Given the description of an element on the screen output the (x, y) to click on. 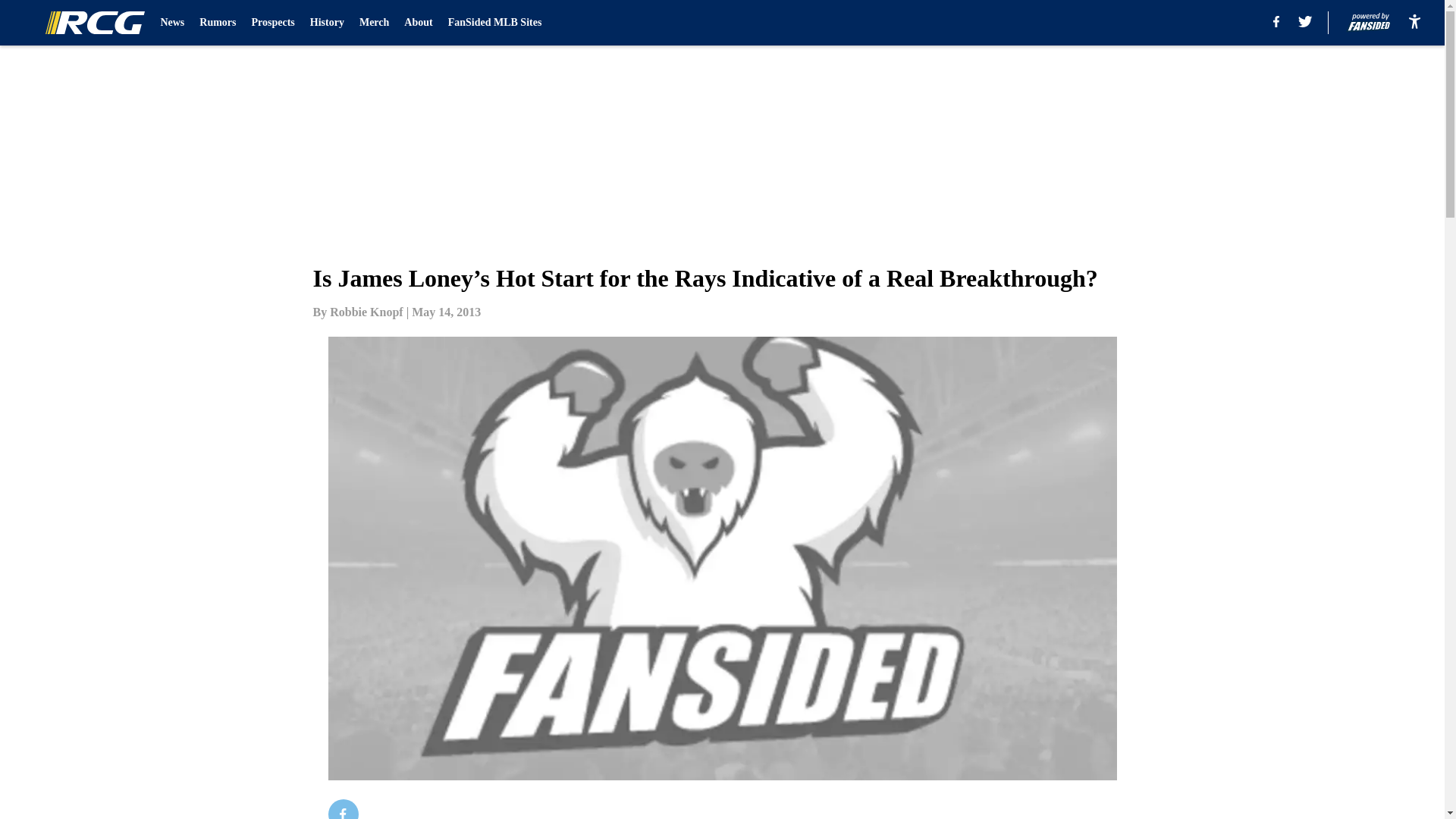
News (172, 22)
Merch (373, 22)
History (326, 22)
Prospects (273, 22)
Rumors (217, 22)
About (418, 22)
FanSided MLB Sites (494, 22)
